Given the description of an element on the screen output the (x, y) to click on. 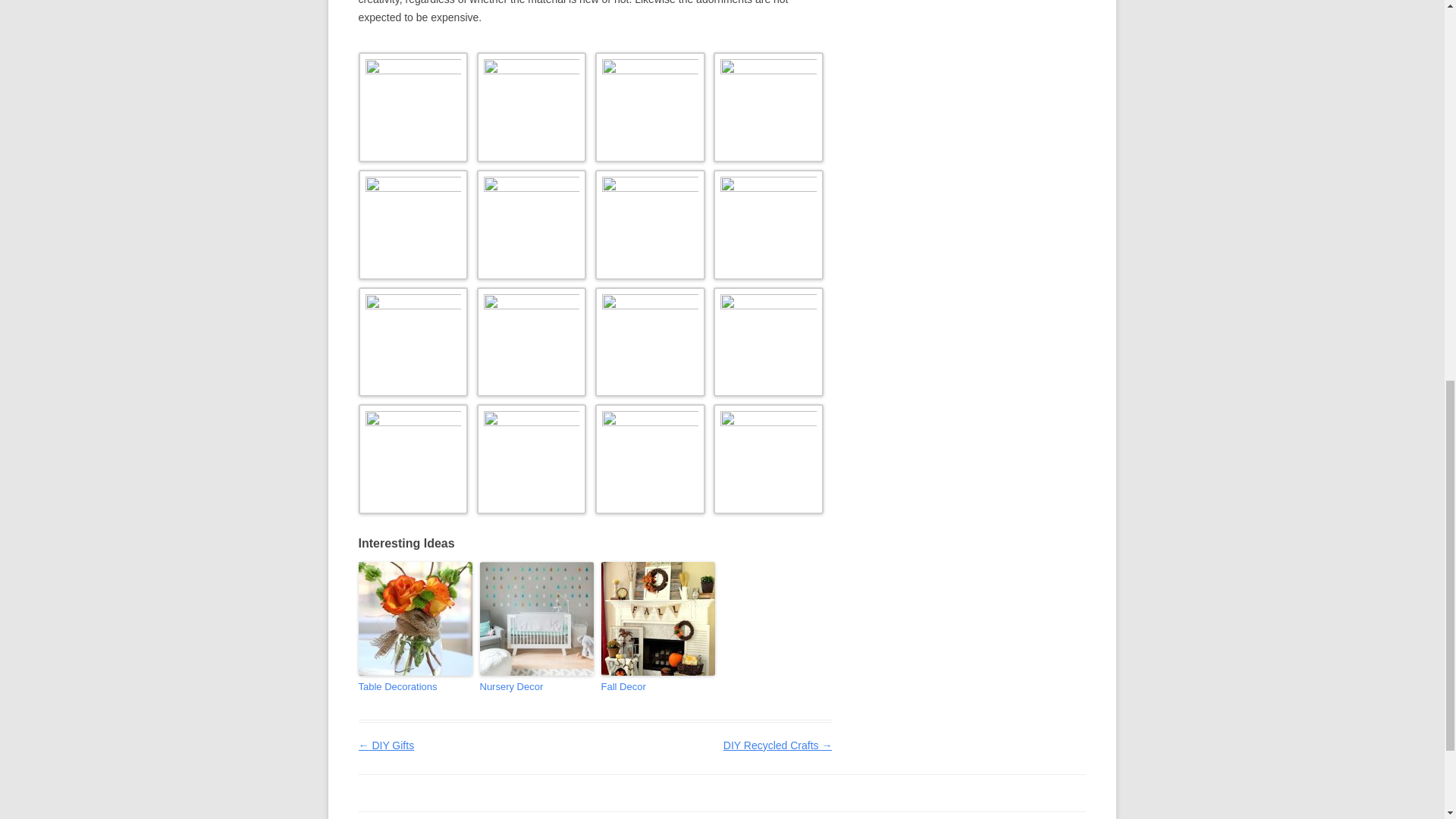
Fall Decor (656, 687)
Nursery Decor (535, 687)
Skip to content (751, 815)
Table Decorations (414, 687)
